Given the description of an element on the screen output the (x, y) to click on. 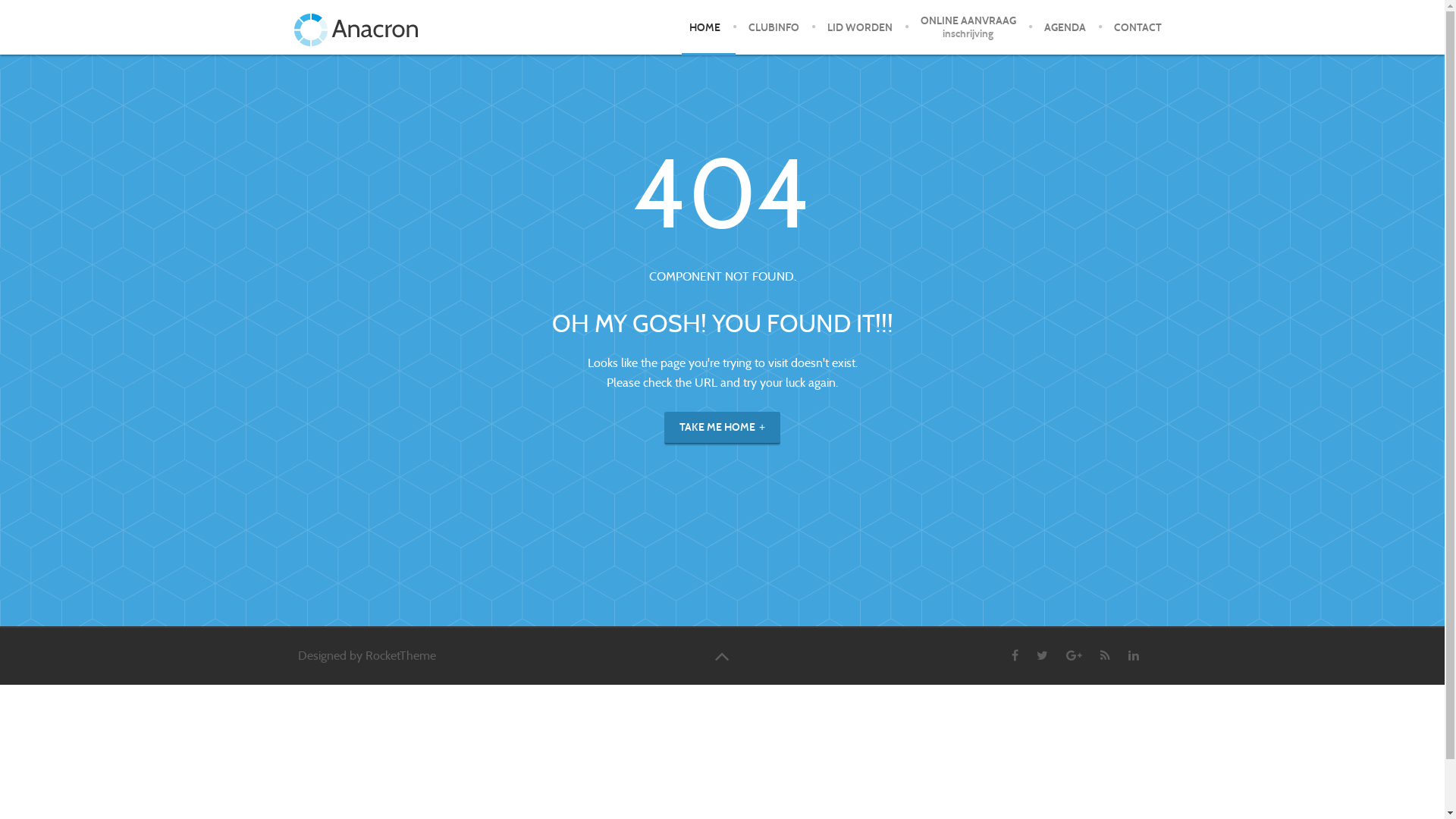
LID WORDEN Element type: text (859, 27)
TAKE ME HOME Element type: text (722, 427)
AGENDA Element type: text (1064, 27)
ONLINE AANVRAAG
inschrijving Element type: text (967, 27)
HOME Element type: text (704, 27)
